Given the description of an element on the screen output the (x, y) to click on. 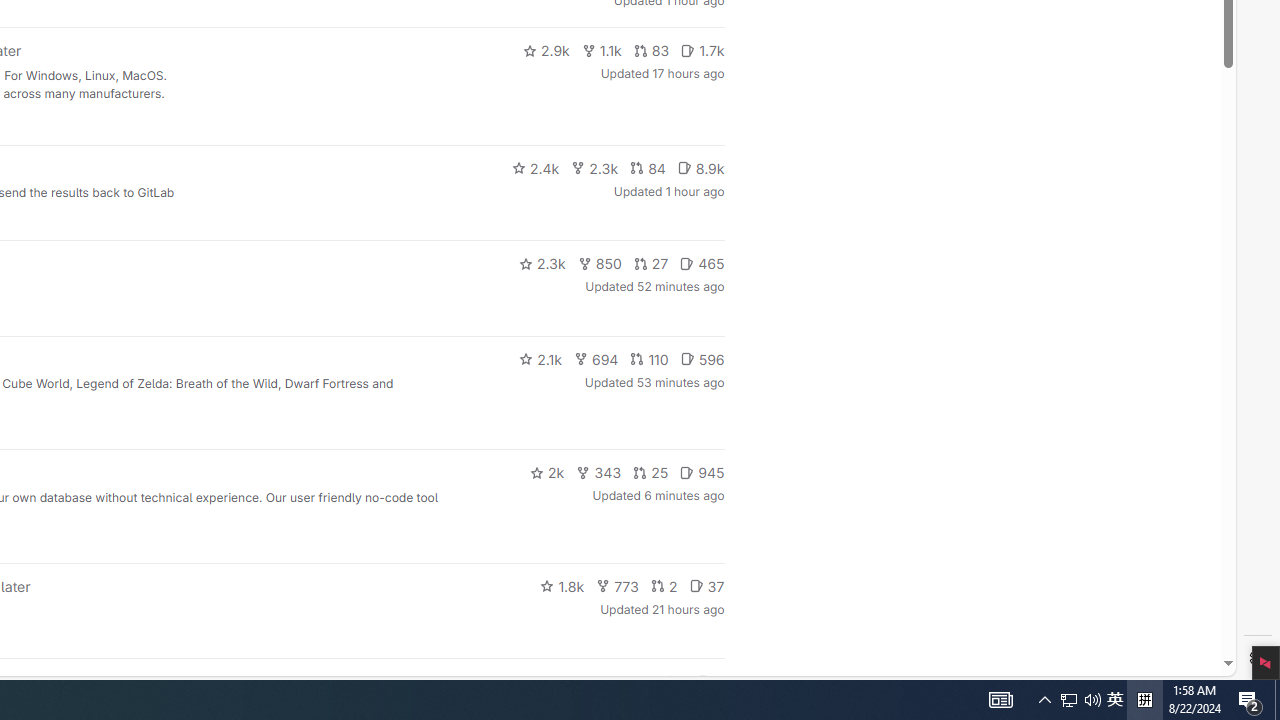
1.7k (702, 50)
37 (706, 585)
2.1k (539, 358)
945 (701, 472)
596 (701, 358)
27 (651, 263)
2.3k (541, 263)
1.4k (573, 681)
1 (673, 681)
1.8k (562, 585)
773 (618, 585)
343 (599, 472)
2k (546, 472)
2 (664, 585)
